Given the description of an element on the screen output the (x, y) to click on. 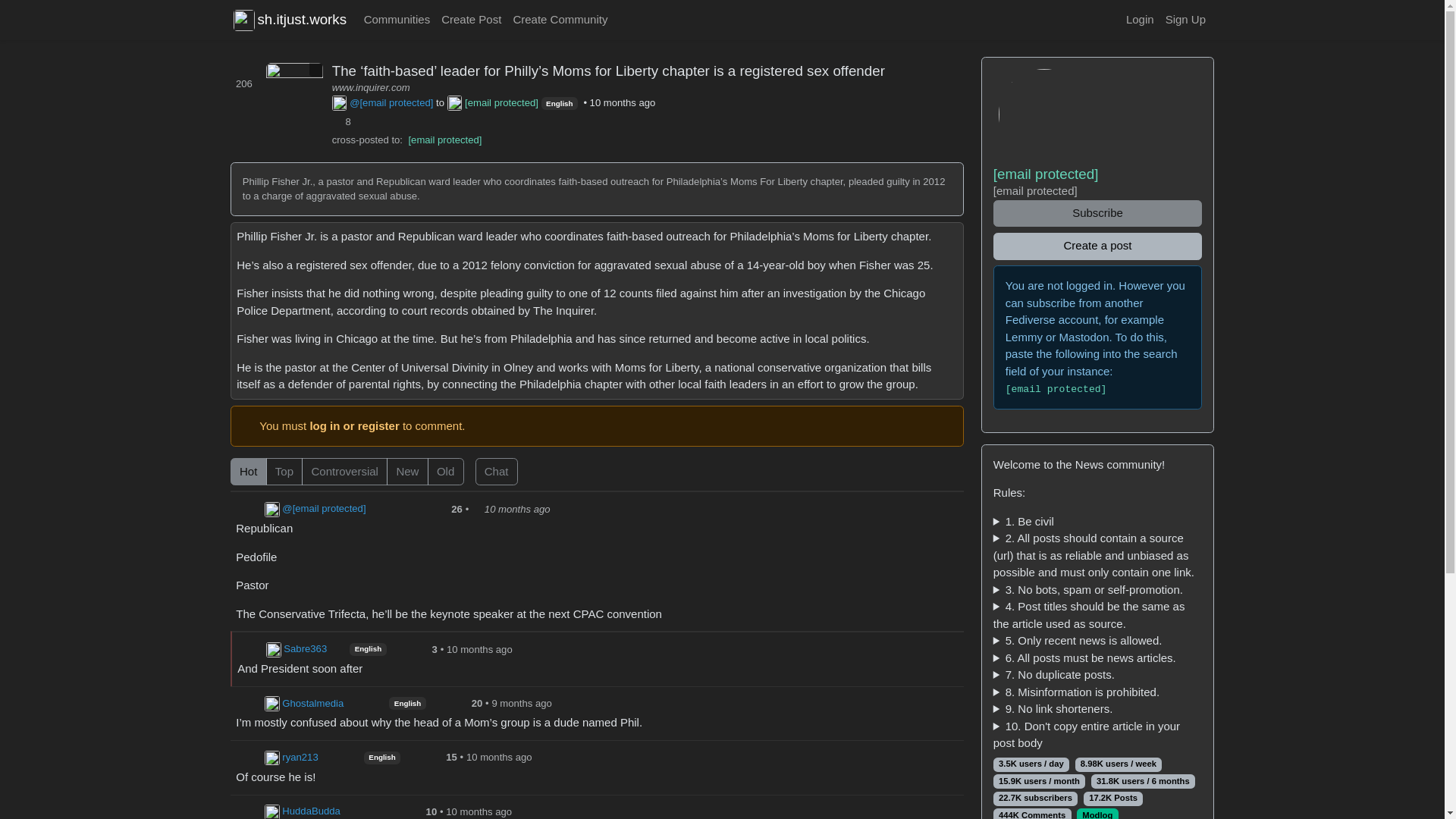
Login (1138, 20)
sh.itjust.works (289, 19)
New (235, 462)
Communities (396, 20)
Communities (396, 20)
Old (235, 462)
Login (1138, 20)
Create Community (559, 20)
8 (344, 121)
Sign Up (1184, 20)
